Given the description of an element on the screen output the (x, y) to click on. 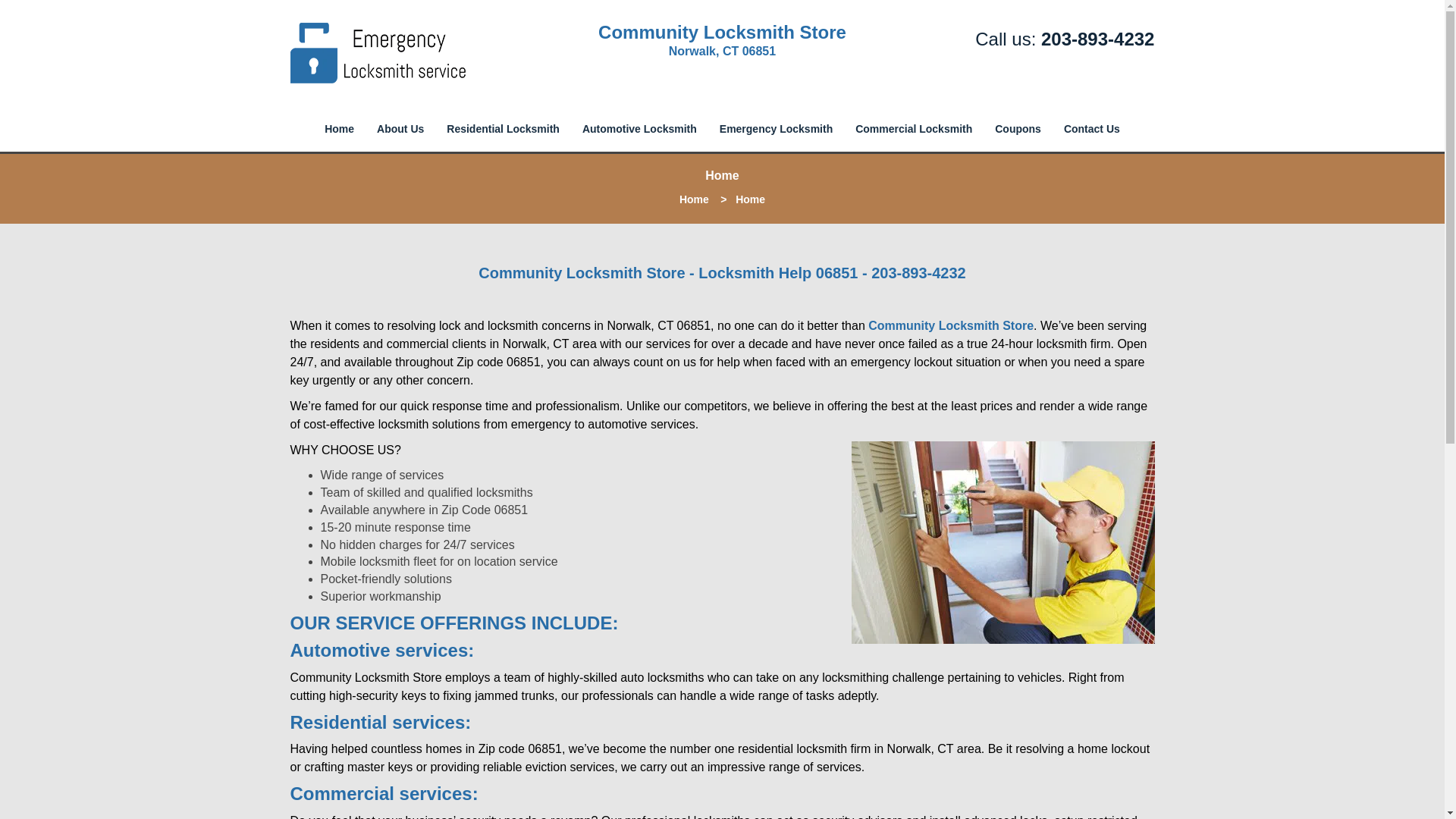
Home (694, 199)
203-893-4232 (918, 272)
Coupons (1018, 128)
Automotive Locksmith (638, 128)
Residential Locksmith (502, 128)
Contact Us (1091, 128)
Home (339, 128)
Community Locksmith Store Norwalk, CT 203-893-4232 (1002, 542)
Commercial Locksmith (914, 128)
203-893-4232 (1097, 38)
